Given the description of an element on the screen output the (x, y) to click on. 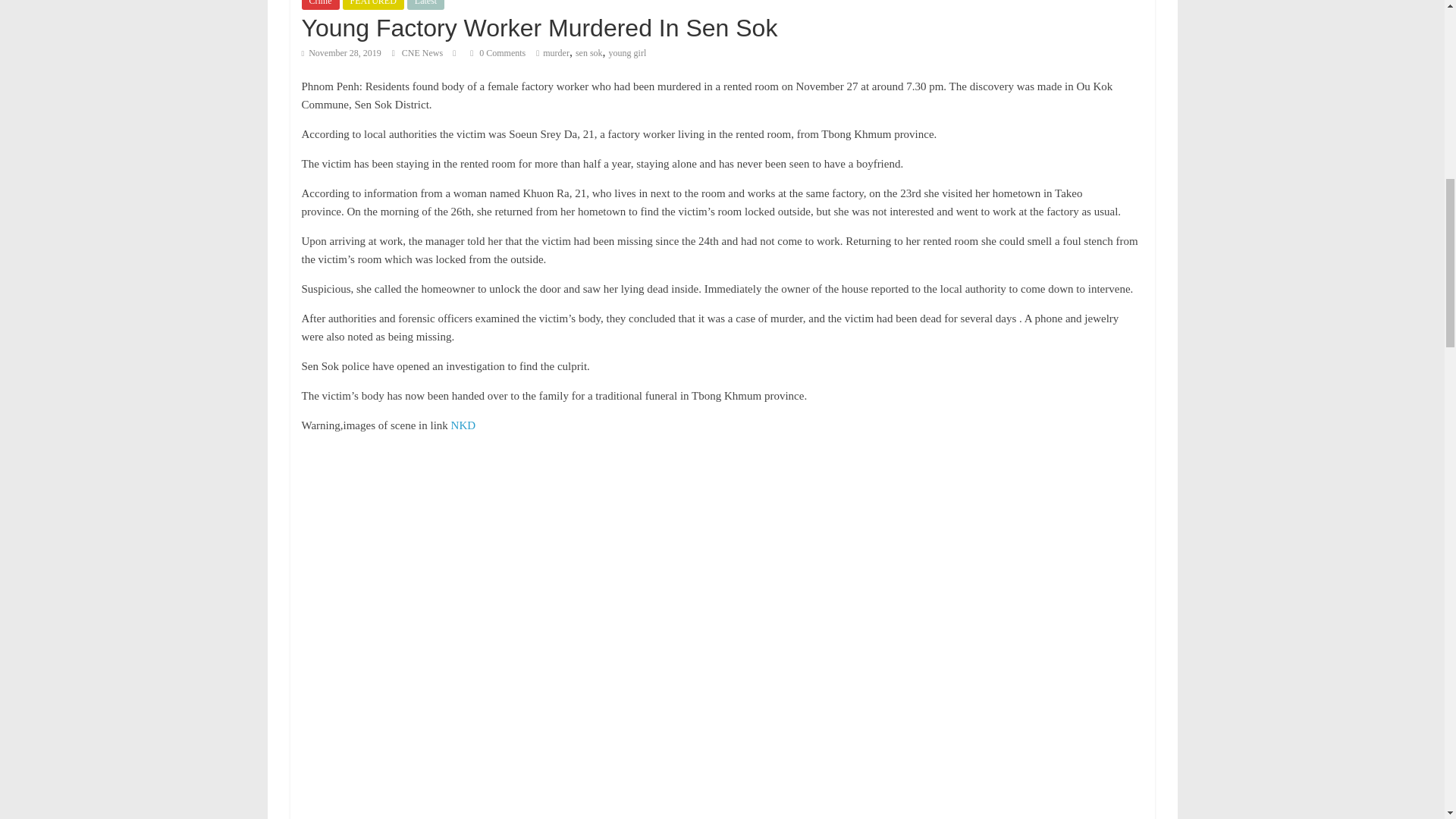
FEATURED (373, 4)
sen sok (588, 52)
November 28, 2019 (341, 52)
Crime (320, 4)
NKD (463, 425)
CNE News (423, 52)
CNE News (423, 52)
young girl (627, 52)
10:22 am (341, 52)
Latest (425, 4)
